Given the description of an element on the screen output the (x, y) to click on. 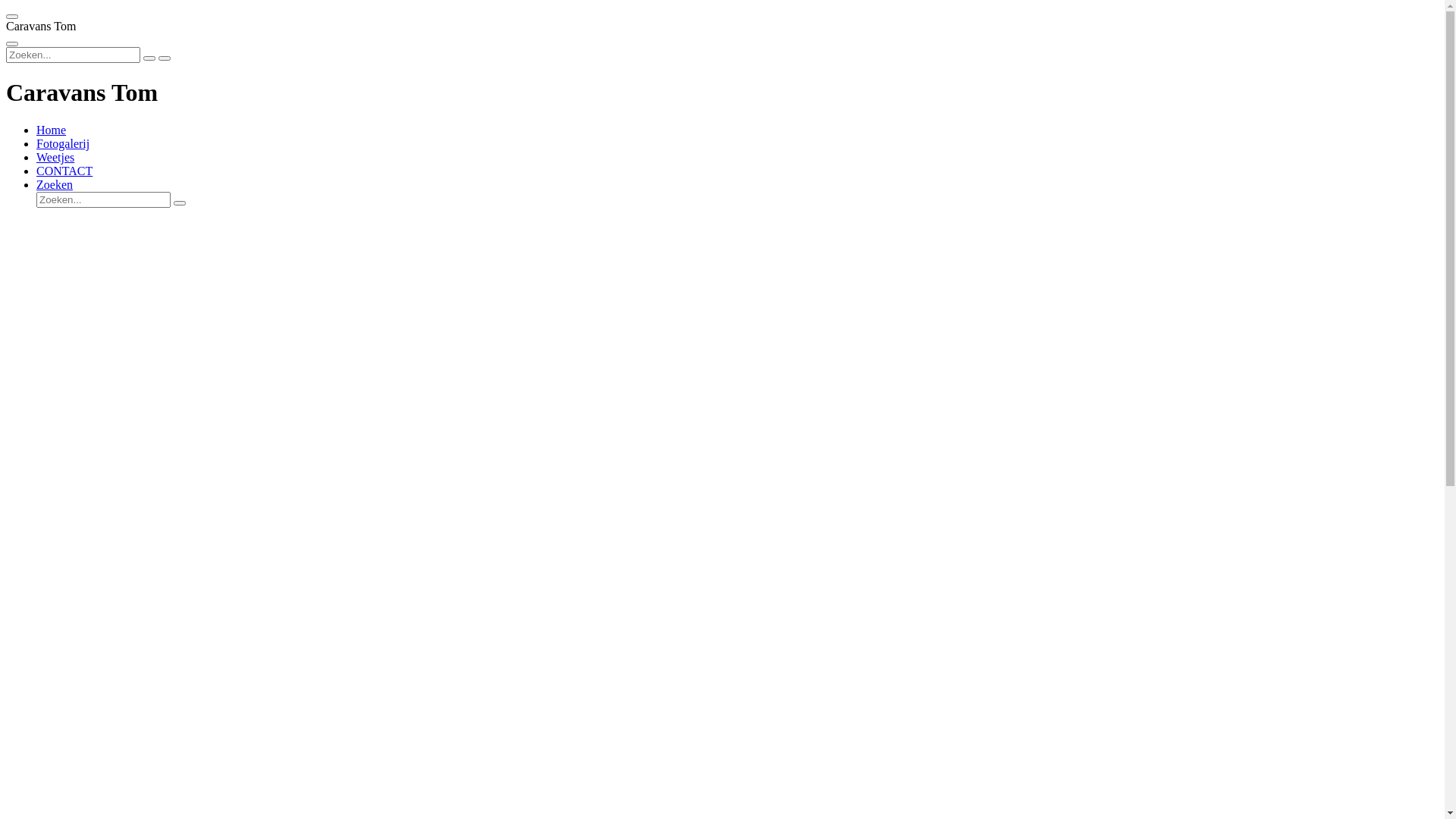
Fotogalerij Element type: text (62, 143)
Weetjes Element type: text (55, 156)
Zoeken Element type: text (54, 184)
CONTACT Element type: text (64, 170)
Home Element type: text (50, 129)
